Given the description of an element on the screen output the (x, y) to click on. 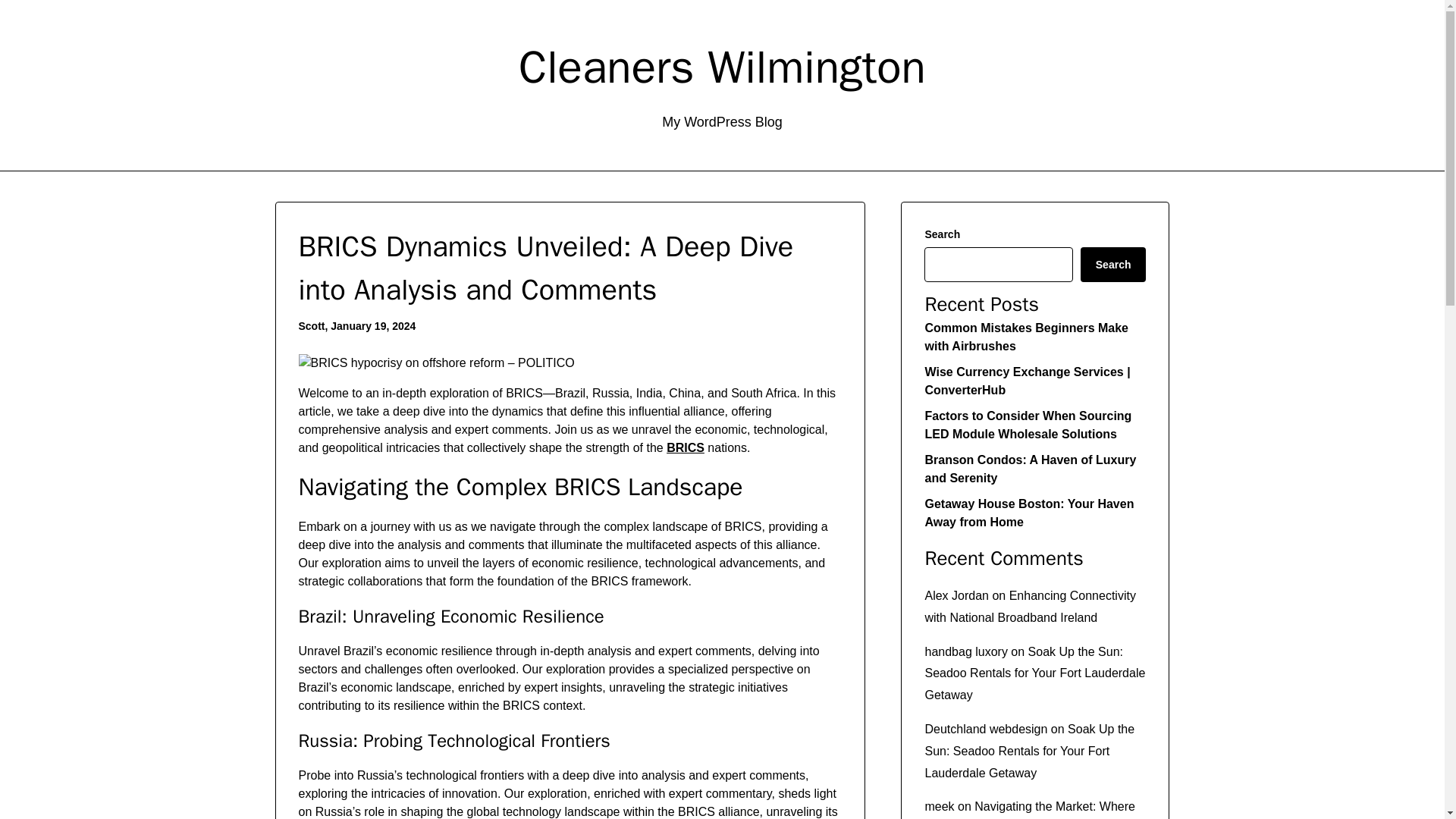
January 19, 2024 (372, 326)
Getaway House Boston: Your Haven Away from Home (1029, 512)
Enhancing Connectivity with National Broadband Ireland (1029, 606)
Deutchland webdesign (985, 728)
BRICS (685, 447)
Search (1113, 264)
